Given the description of an element on the screen output the (x, y) to click on. 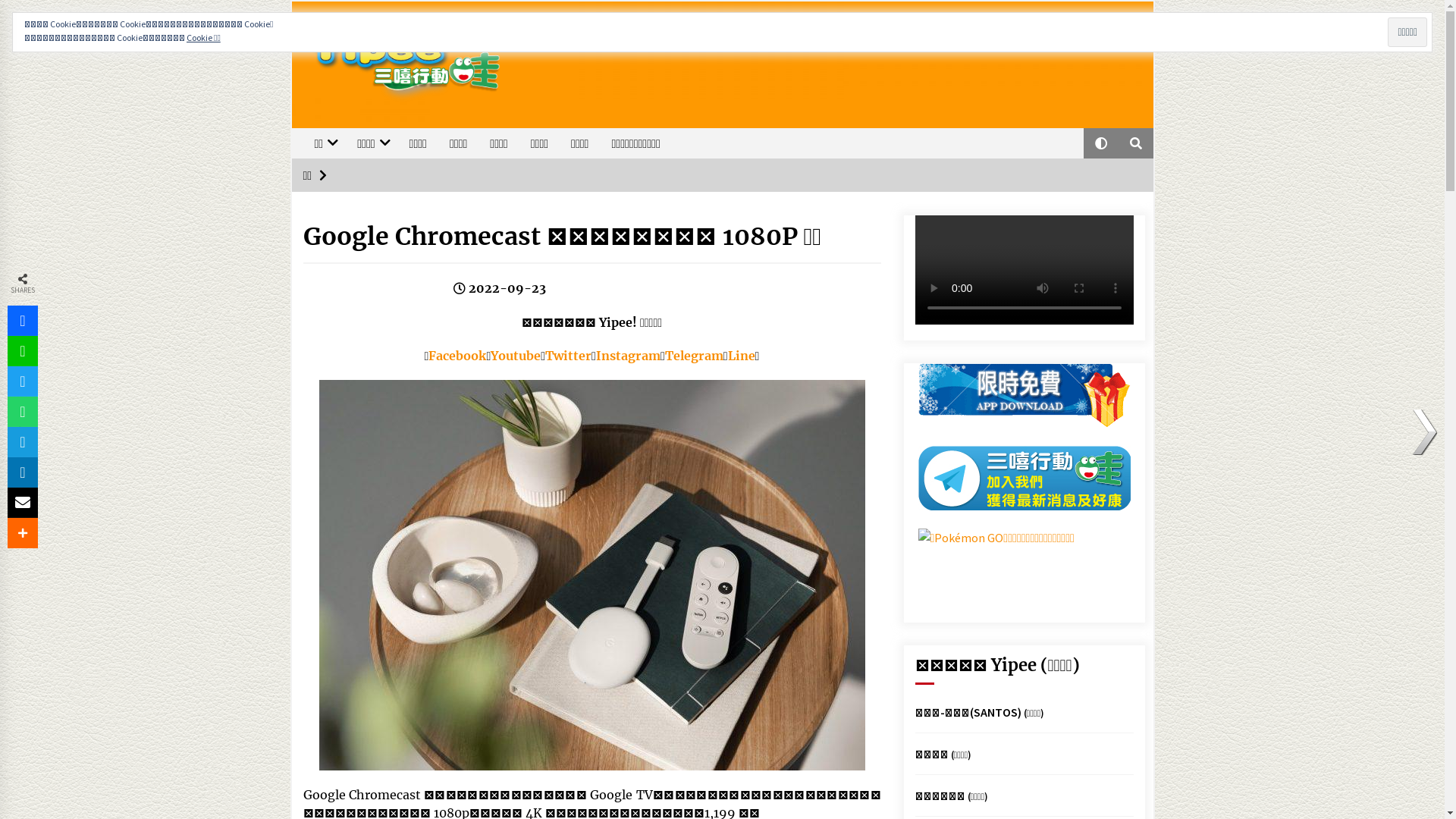
Tweet this ! Element type: hover (22, 381)
Facebook Element type: text (457, 355)
Email this  Element type: hover (22, 502)
More share links Element type: hover (22, 532)
Line Element type: hover (22, 350)
Instagram Element type: text (628, 355)
Youtube Element type: text (515, 355)
Twitter Element type: text (568, 355)
Line Element type: text (741, 355)
Telegram Element type: hover (22, 441)
Share this on Facebook Element type: hover (22, 320)
WhatsApp Element type: hover (22, 411)
Add this to LinkedIn Element type: hover (22, 472)
Telegram Element type: text (694, 355)
